Given the description of an element on the screen output the (x, y) to click on. 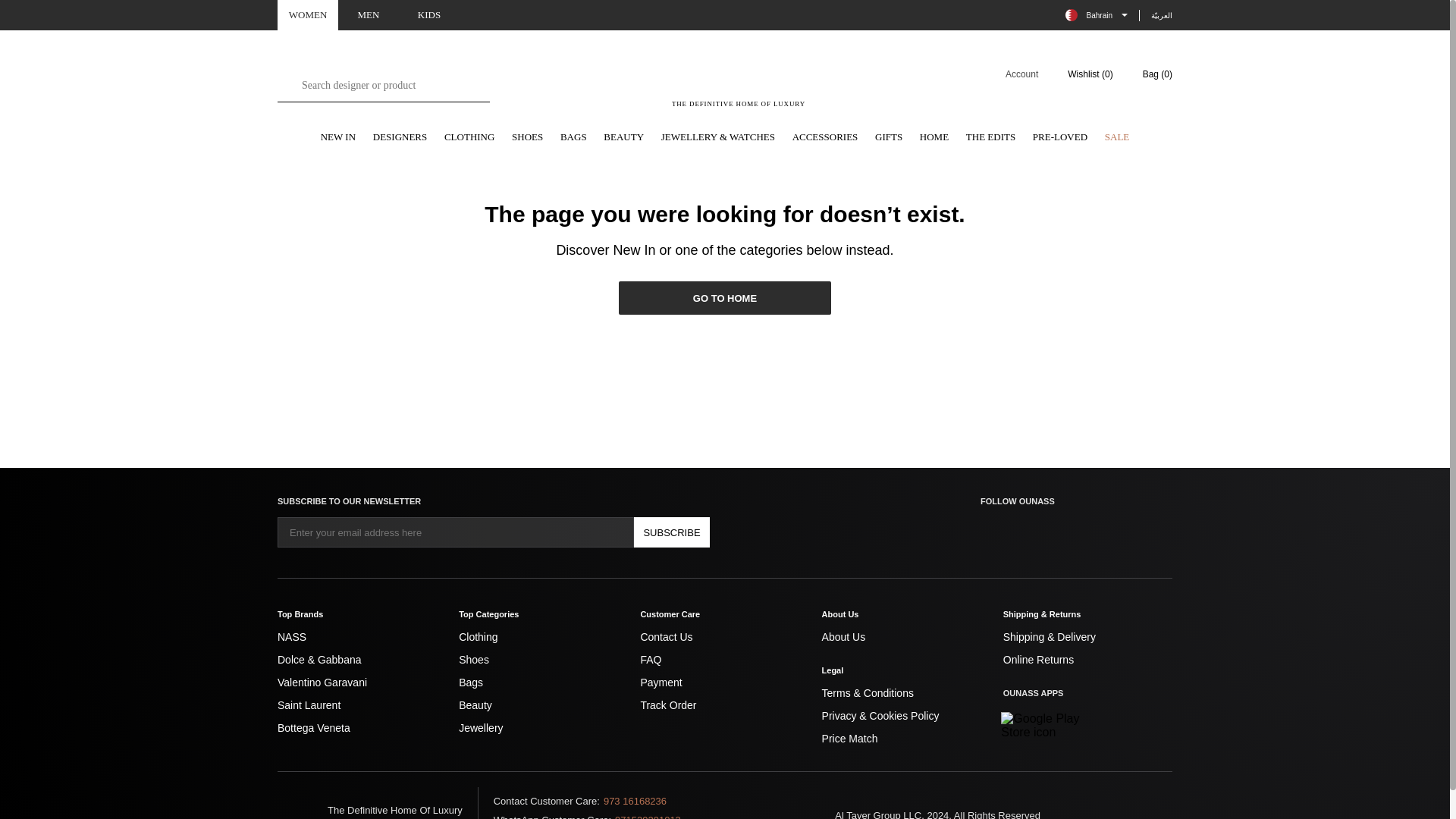
MEN (367, 15)
Account (1012, 73)
THE DEFINITIVE HOME OF LUXURY (738, 83)
KIDS (429, 15)
SUBSCRIBE (671, 531)
GIFTS (888, 137)
SHOES (527, 137)
NEW IN (337, 137)
DESIGNERS (400, 137)
THE EDITS (990, 137)
